Given the description of an element on the screen output the (x, y) to click on. 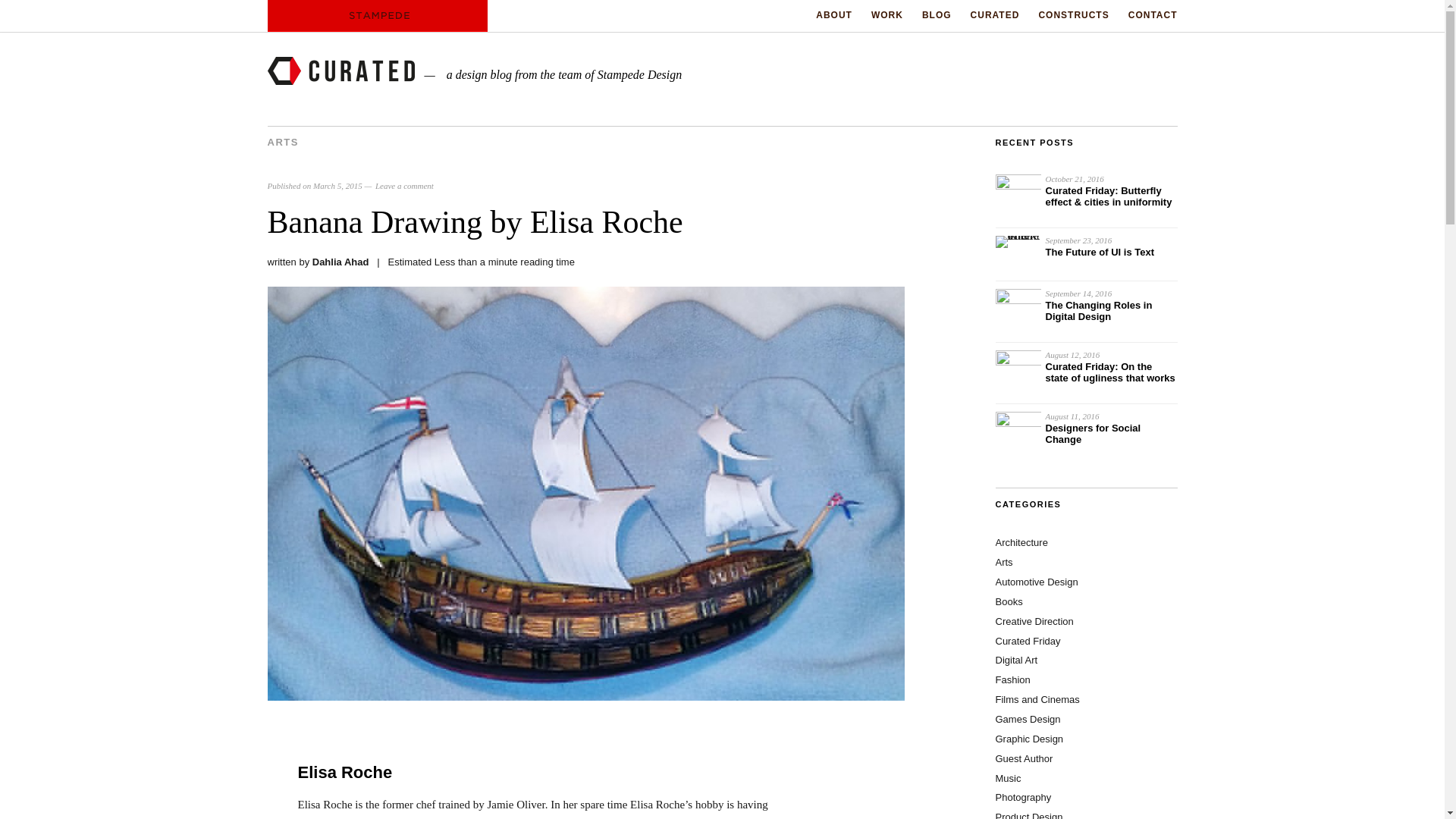
CONTACT (1152, 14)
ABOUT (833, 14)
CONSTRUCTS (1073, 14)
All posts by Dahlia Ahad (341, 261)
Permalink to The Future of UI is Text (1099, 251)
Leave a comment (404, 185)
Permalink to Banana Drawing by Elisa Roche (585, 696)
Dahlia Ahad (341, 261)
ARTS (282, 142)
